Given the description of an element on the screen output the (x, y) to click on. 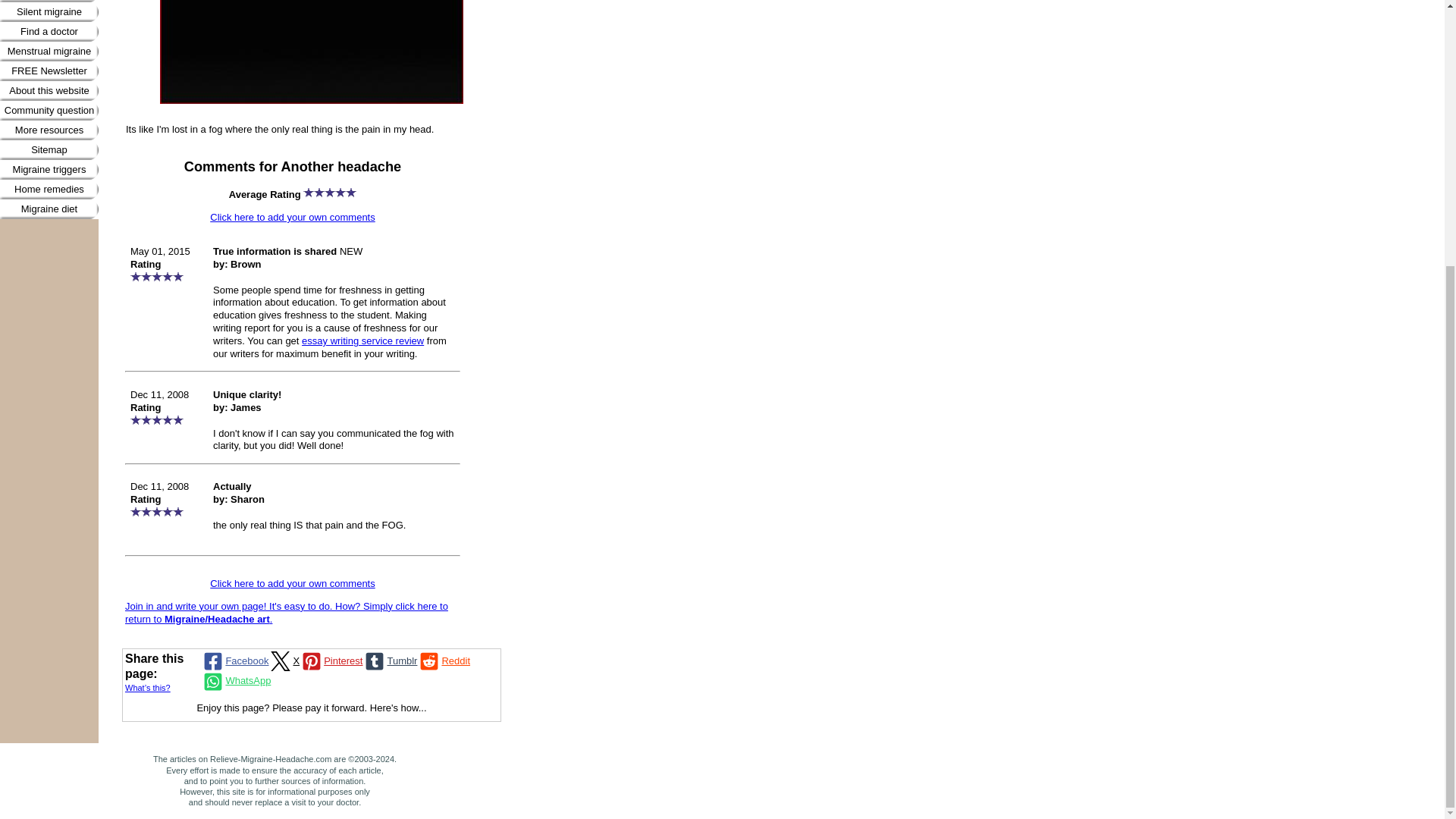
Home remedies (49, 189)
About this website (49, 90)
Find a doctor (49, 31)
Click here to add your own comments (291, 216)
Click here to add your own comments (291, 583)
Tumblr (389, 661)
Migraine triggers (49, 169)
Community question (49, 110)
Facebook (233, 661)
X (283, 661)
Hormonal headache (49, 1)
Silent migraine (49, 12)
More resources (49, 130)
Menstrual migraine (49, 51)
Sitemap (49, 149)
